Given the description of an element on the screen output the (x, y) to click on. 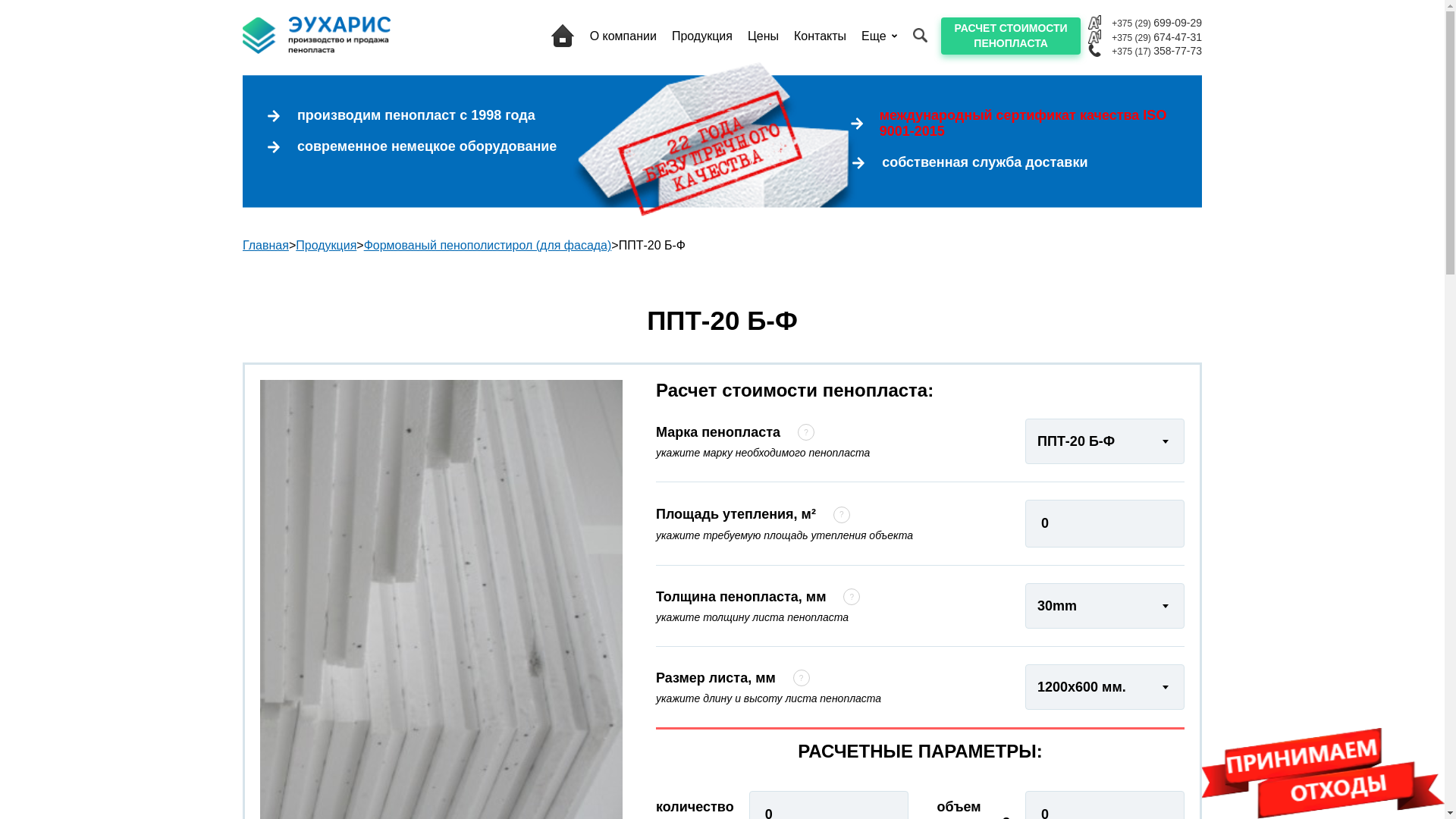
+375 (29) 674-47-31 Element type: text (1151, 37)
+375 (29) 699-09-29 Element type: text (1151, 22)
+375 (17) 358-77-73 Element type: text (1151, 50)
